Given the description of an element on the screen output the (x, y) to click on. 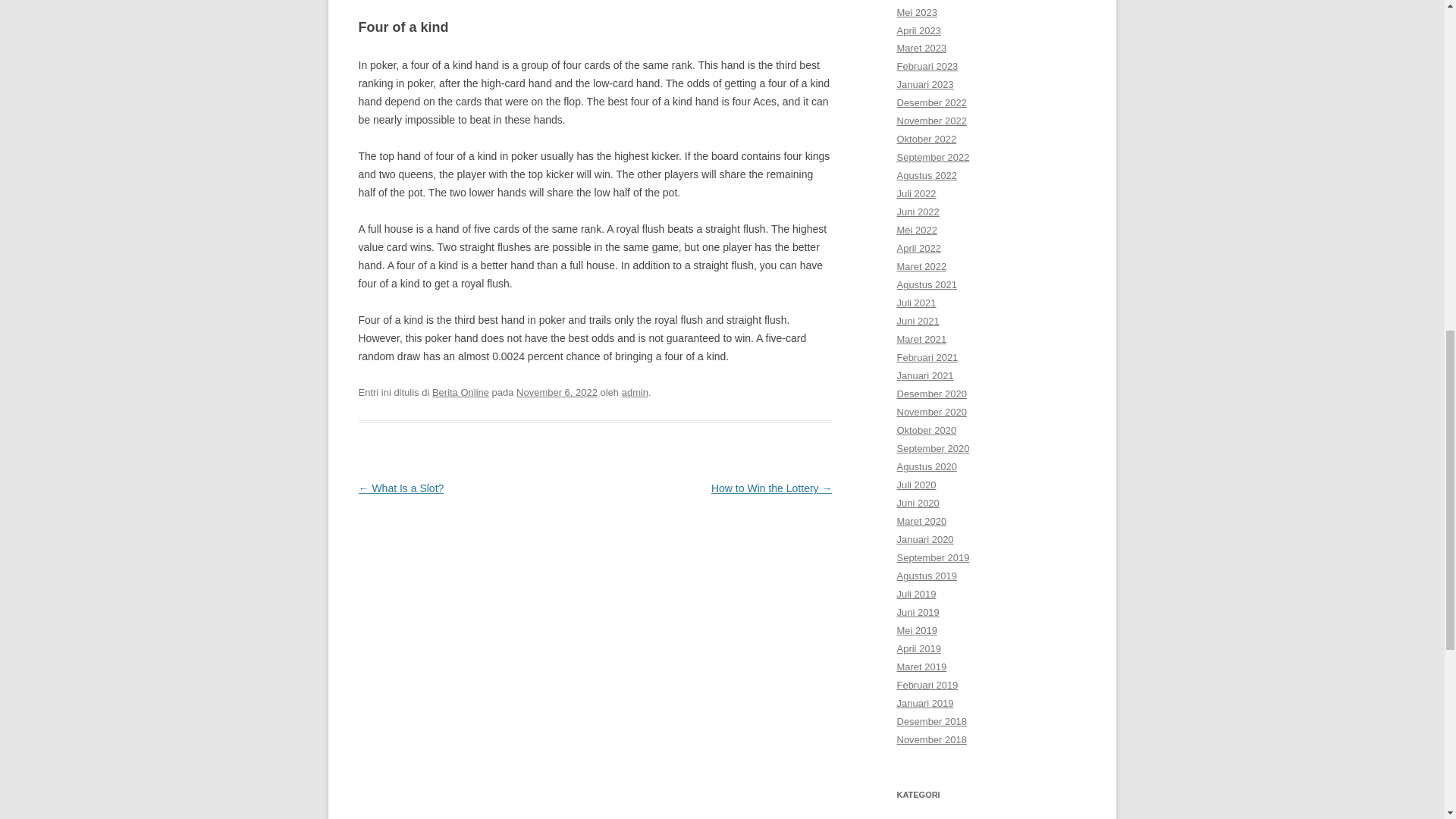
5:46 pm (556, 392)
Lihat semua tulisan oleh admin (634, 392)
Berita Online (460, 392)
April 2023 (918, 30)
Mei 2023 (916, 12)
November 2022 (931, 120)
Desember 2022 (931, 102)
admin (634, 392)
Februari 2023 (927, 66)
Oktober 2022 (926, 138)
Maret 2023 (921, 48)
November 6, 2022 (556, 392)
Januari 2023 (924, 84)
September 2022 (932, 156)
